Given the description of an element on the screen output the (x, y) to click on. 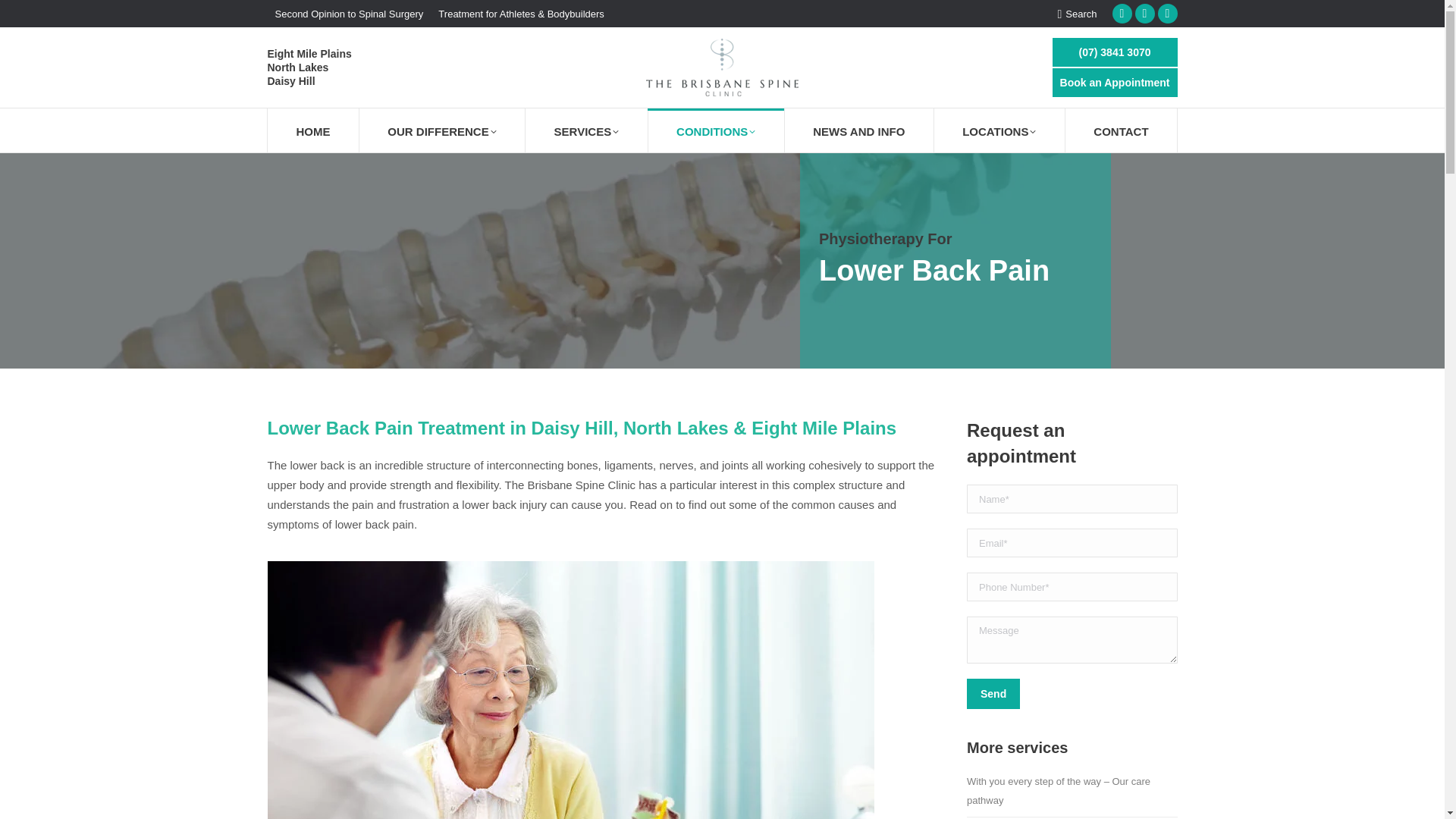
Go! (24, 16)
Instagram page opens in new window (1166, 13)
Facebook page opens in new window (1121, 13)
Facebook page opens in new window (1121, 13)
SERVICES (586, 130)
HOME (312, 130)
Second Opinion to Spinal Surgery (349, 12)
Send (993, 693)
OUR DIFFERENCE (441, 130)
Instagram page opens in new window (1166, 13)
Book an Appointment (1114, 82)
Linkedin page opens in new window (1144, 13)
Search (1076, 12)
Linkedin page opens in new window (1144, 13)
